Given the description of an element on the screen output the (x, y) to click on. 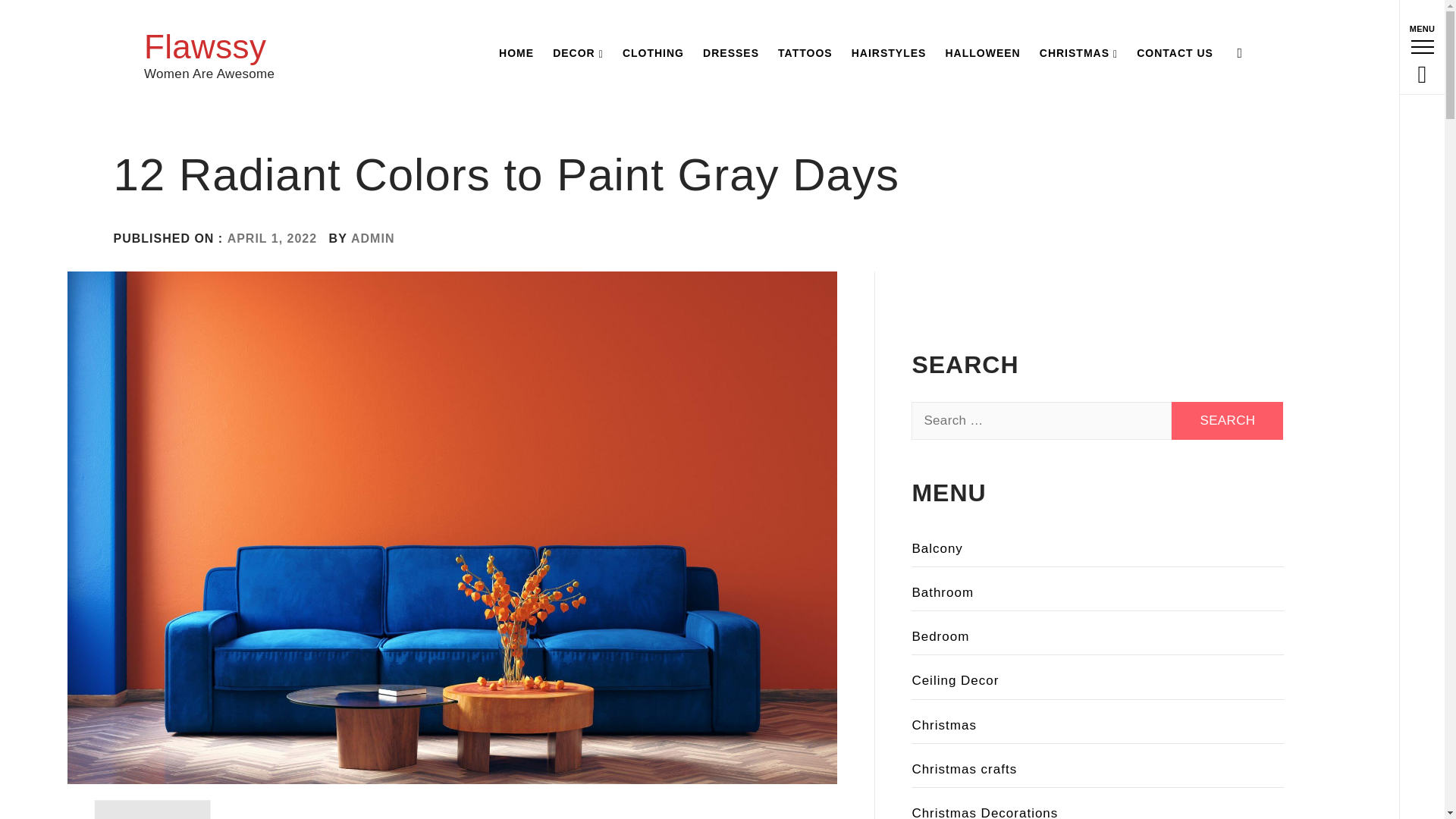
TATTOOS (805, 53)
Search (1227, 420)
Search (1227, 420)
DRESSES (731, 53)
DECOR (577, 53)
Search (646, 37)
HAIRSTYLES (889, 53)
HALLOWEEN (982, 53)
Flawssy (205, 46)
HOME (516, 53)
CHRISTMAS (1078, 53)
APRIL 1, 2022 (272, 237)
CONTACT US (1175, 53)
CLOTHING (652, 53)
